Given the description of an element on the screen output the (x, y) to click on. 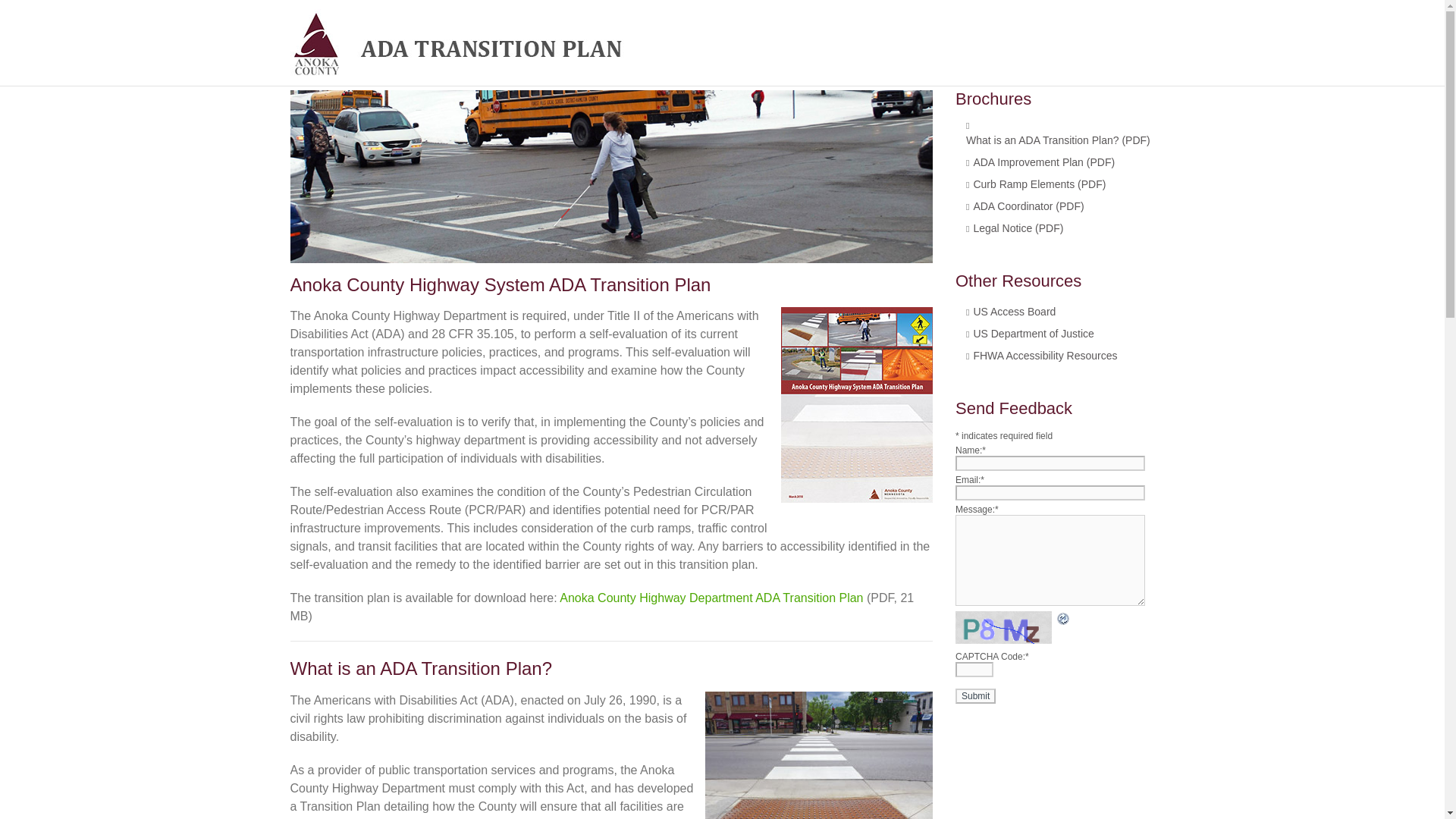
Submit (975, 695)
US Department of Justice (1033, 333)
CAPTCHA (1005, 626)
Refresh (1063, 620)
US Access Board (1013, 311)
Anoka County Highway Department ADA Transition Plan (711, 597)
FHWA Accessibility Resources (1044, 355)
Submit (975, 695)
